Given the description of an element on the screen output the (x, y) to click on. 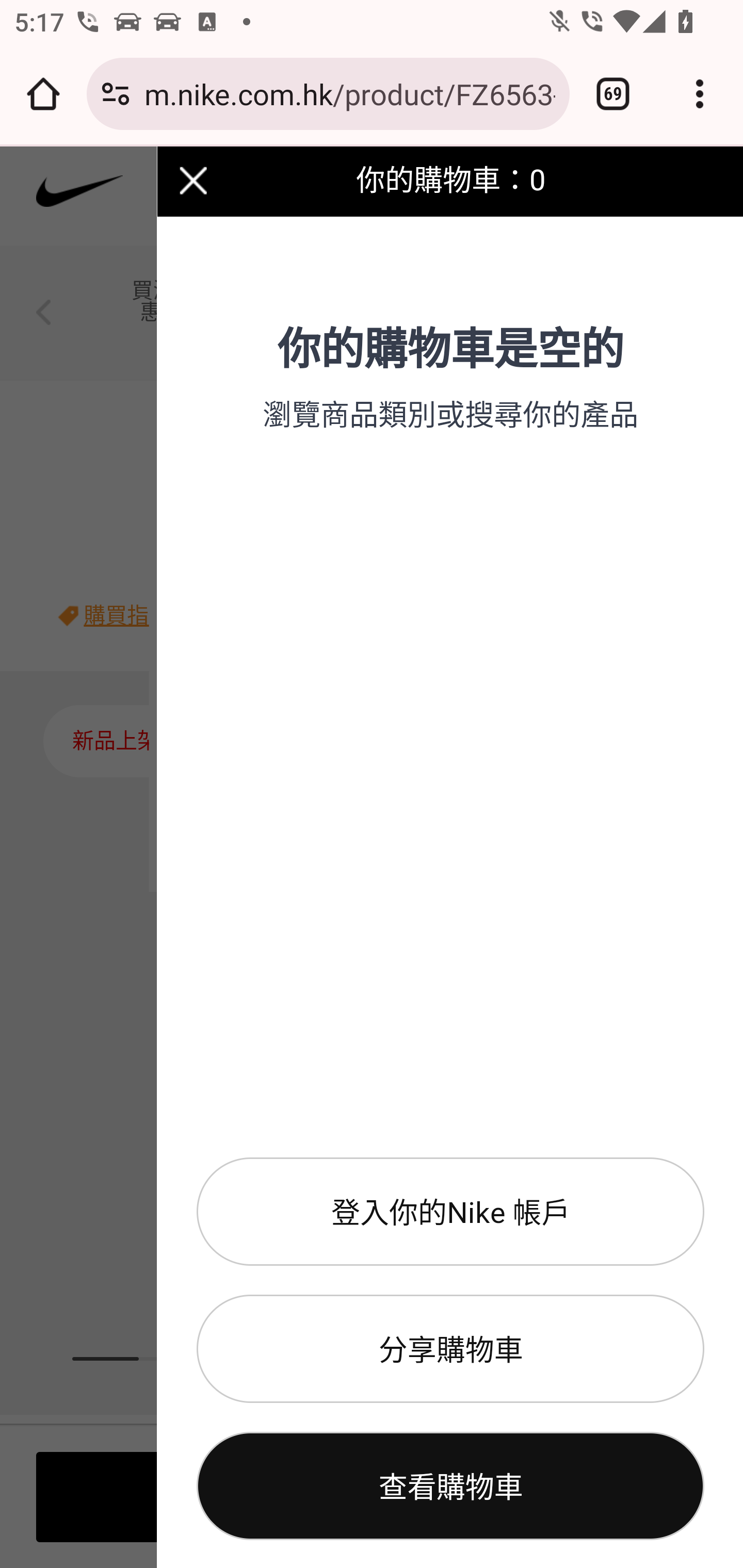
Open the home page (43, 93)
Connection is secure (115, 93)
Switch or close tabs (612, 93)
Customize and control Google Chrome (699, 93)
登入你的Nike 帳戶 (449, 1211)
查看購物車 (449, 1486)
